Given the description of an element on the screen output the (x, y) to click on. 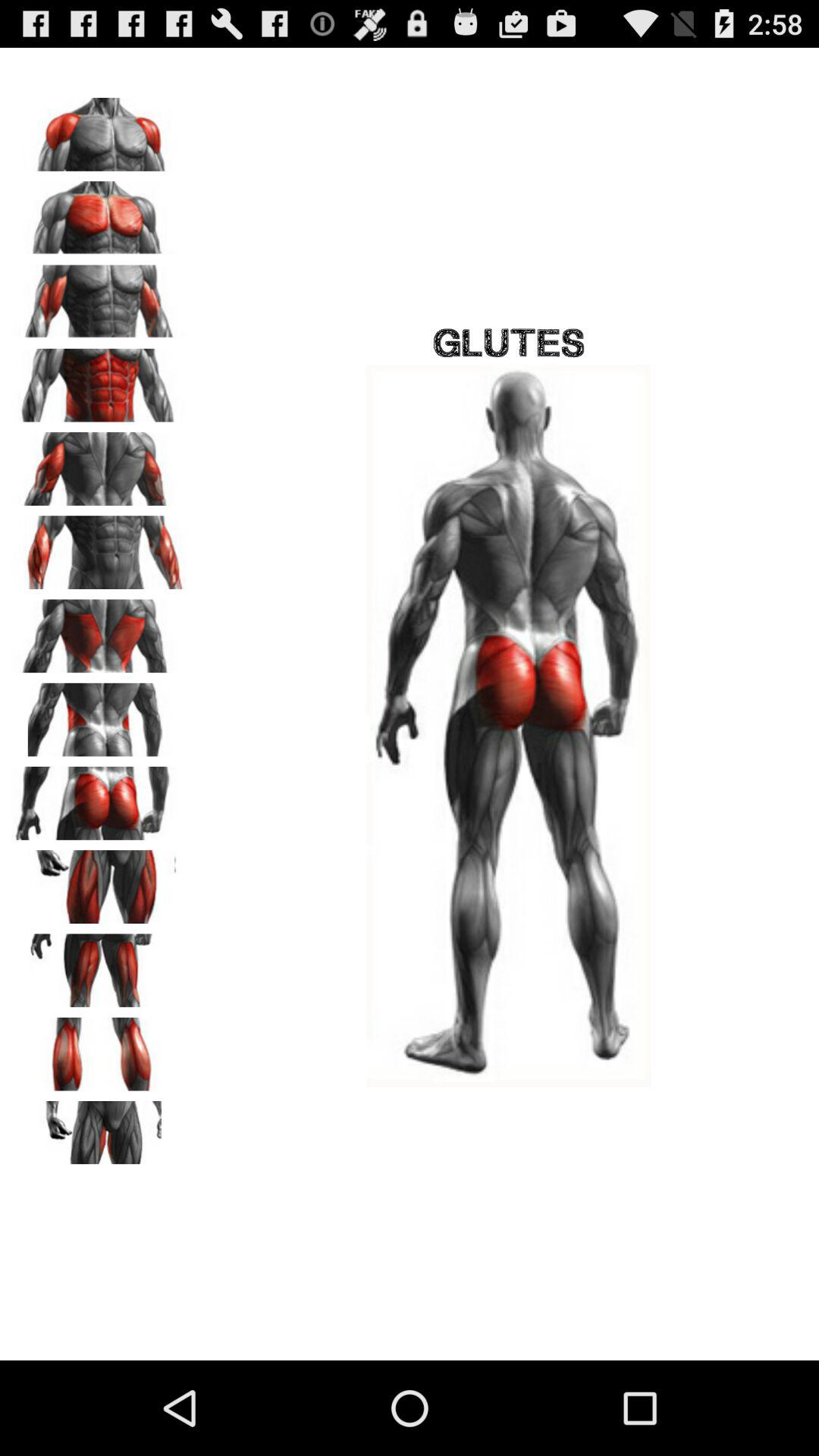
select picture (99, 881)
